Given the description of an element on the screen output the (x, y) to click on. 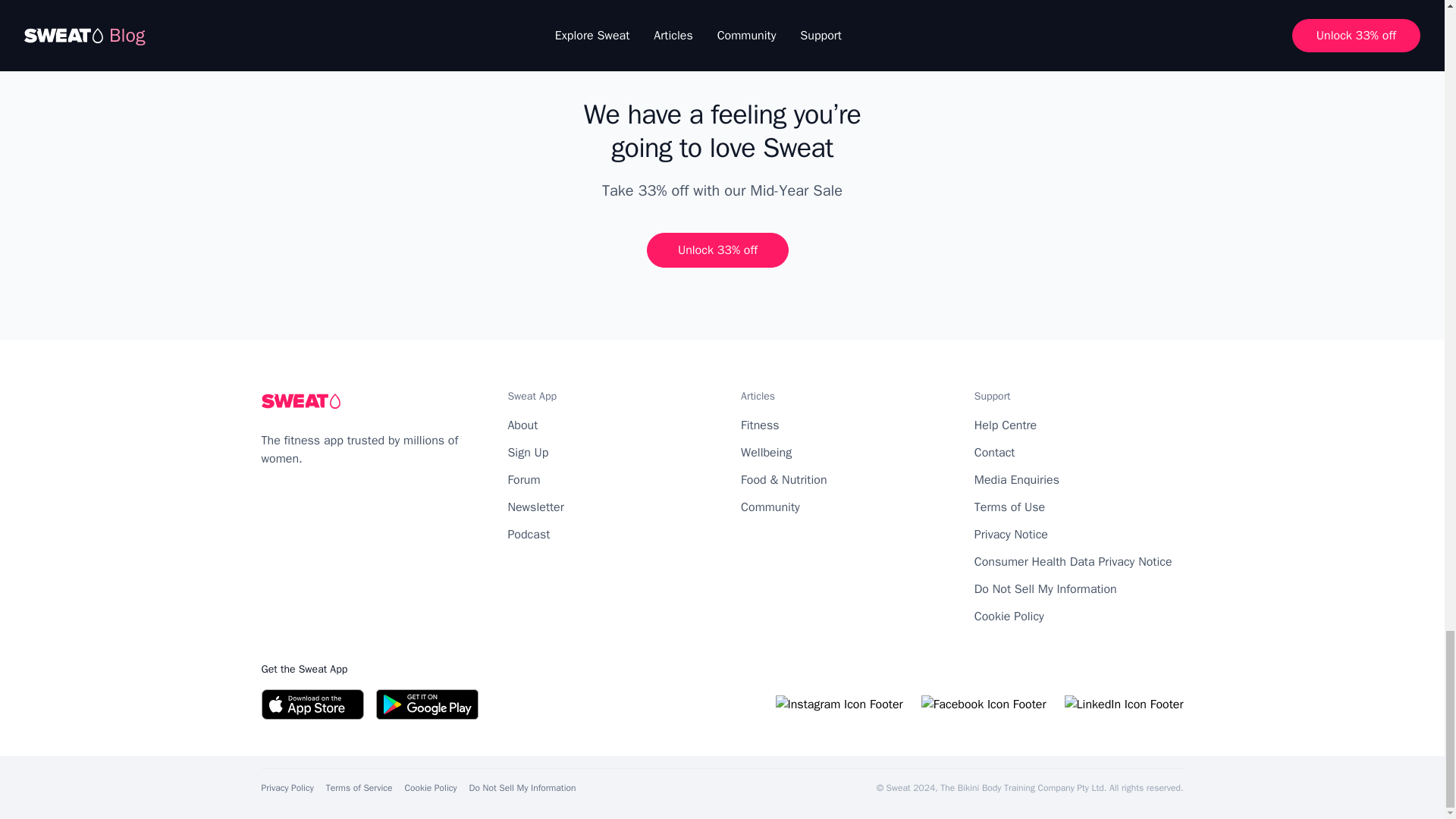
Newsletter (534, 507)
Sign Up (527, 452)
Forum (523, 479)
Podcast (528, 534)
About (521, 425)
Fitness (759, 425)
